Given the description of an element on the screen output the (x, y) to click on. 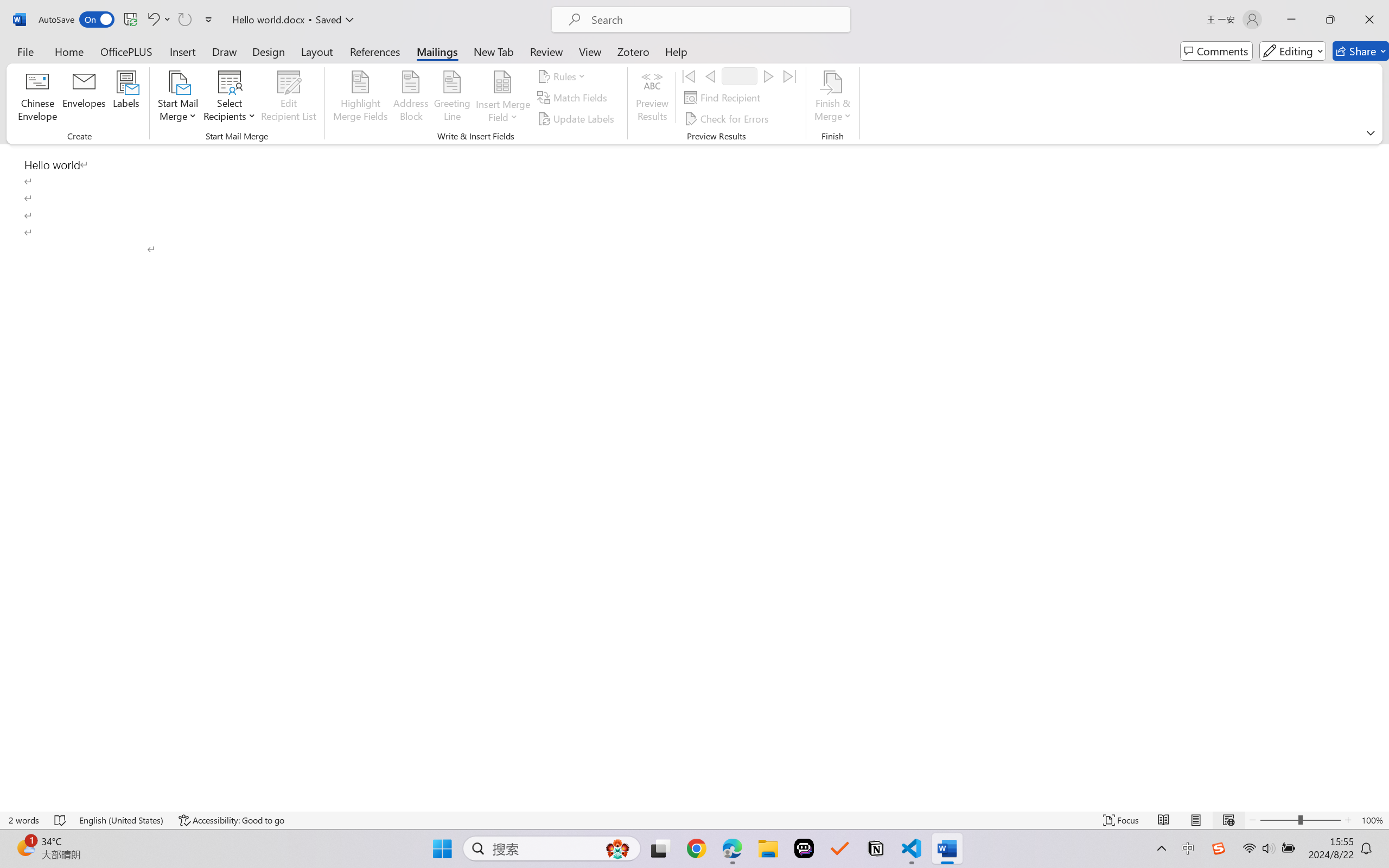
Microsoft search (715, 19)
Word Count 2 words (23, 819)
Previous (709, 75)
Save (130, 19)
Insert (182, 51)
View (589, 51)
Match Fields... (573, 97)
Insert Merge Field (502, 81)
Address Block... (410, 97)
More Options (502, 112)
Update Labels (576, 118)
New Tab (493, 51)
